Given the description of an element on the screen output the (x, y) to click on. 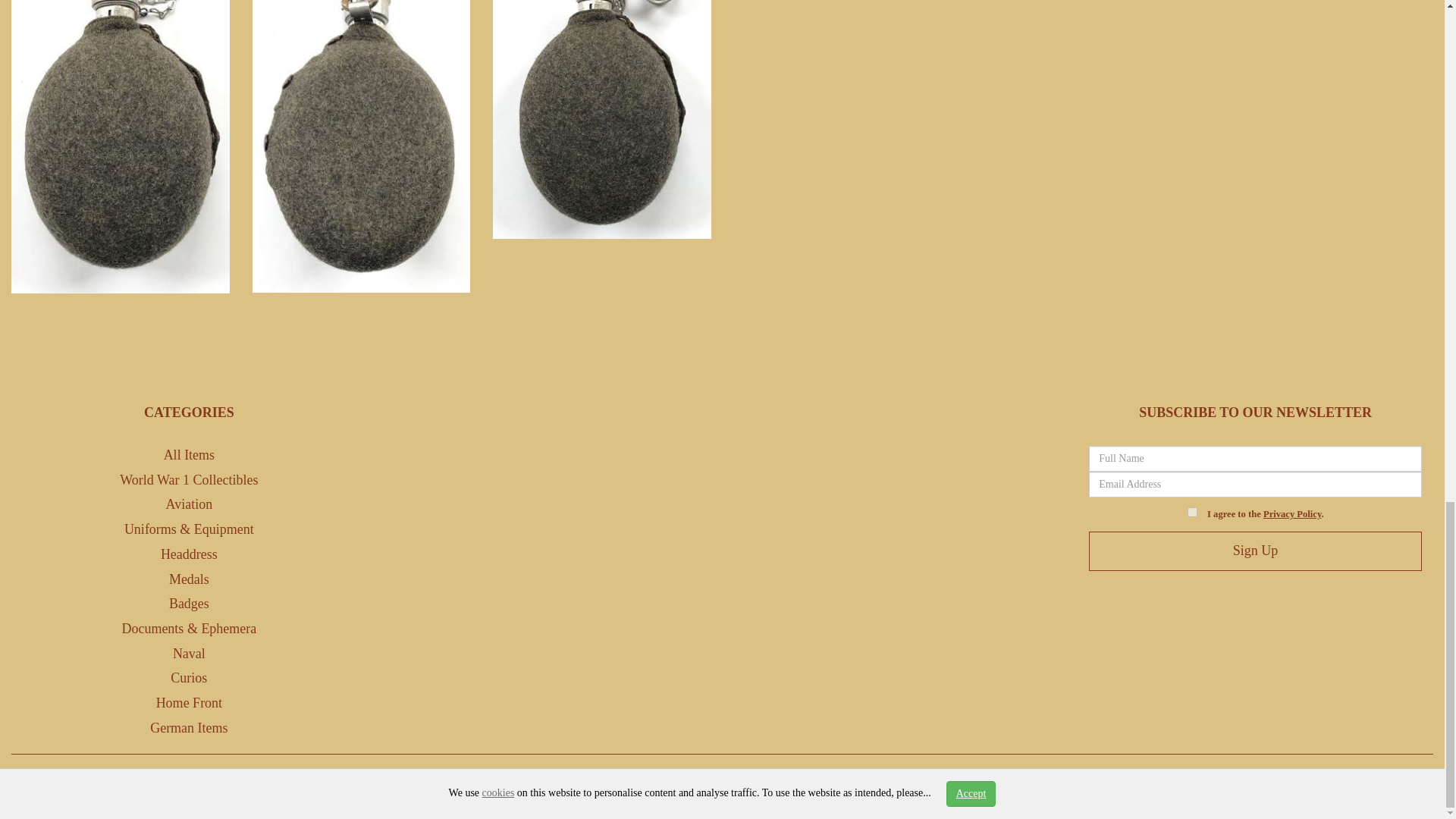
Headdress (188, 554)
on (1192, 511)
Naval (189, 653)
Privacy (699, 782)
Terms (747, 782)
All Items (189, 454)
Militaria (74, 782)
Badges (188, 603)
World War 1 Collectibles (188, 479)
Home Front (188, 702)
Aviation (188, 503)
Privacy Policy (1292, 513)
German Items (188, 727)
Sign Up (1255, 550)
Medals (188, 579)
